Given the description of an element on the screen output the (x, y) to click on. 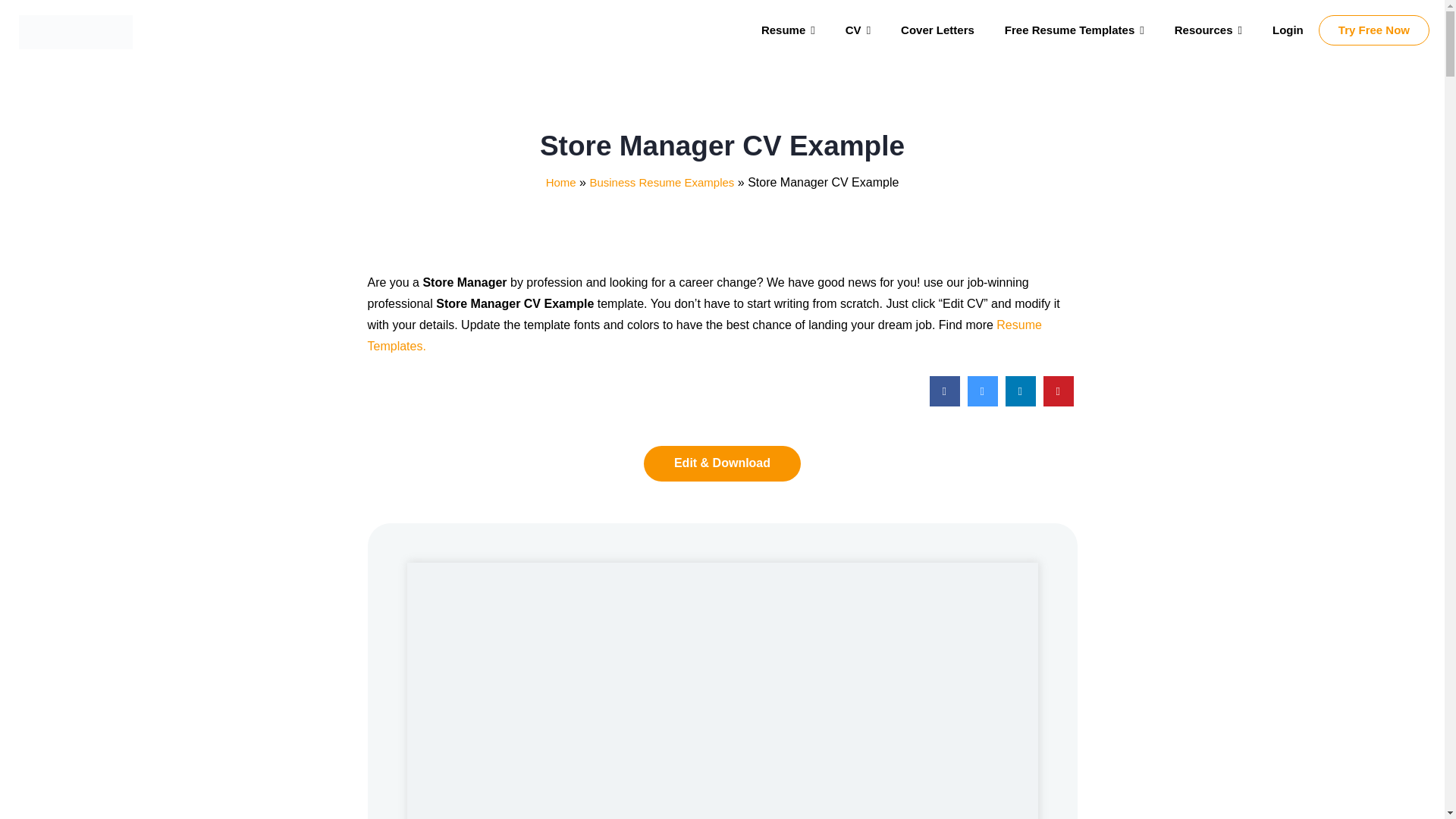
Share on Pinterest (1058, 401)
Try Free Now (1374, 30)
Home (561, 182)
CV (857, 30)
Free Resume Templates (1074, 30)
Cover Letters (937, 30)
Resume Templates. (703, 335)
Business Resume Examples (661, 182)
Share on Facebook (944, 401)
Share on Twitter (982, 401)
